Given the description of an element on the screen output the (x, y) to click on. 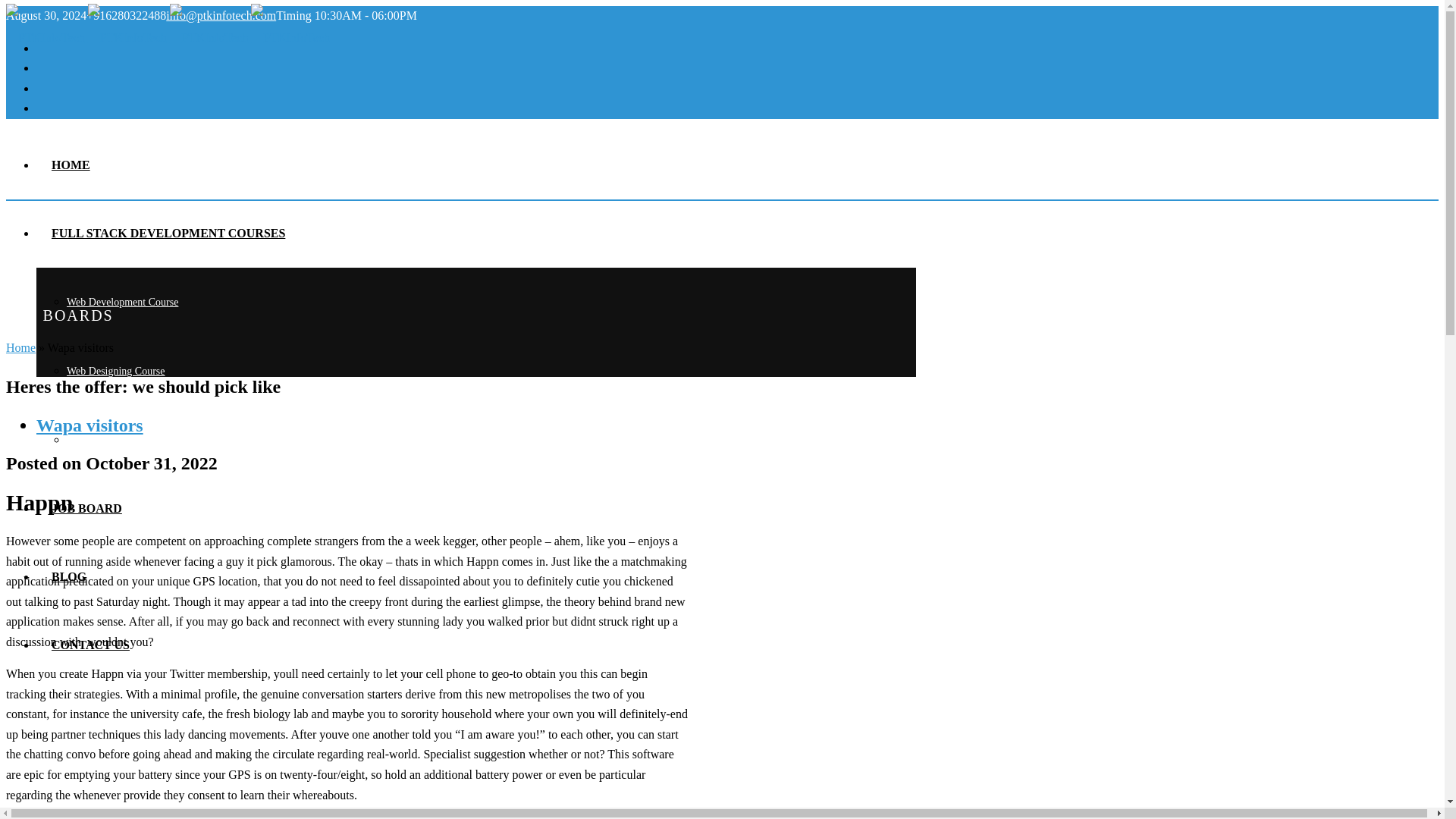
SEO Course (92, 439)
PTKInfoTech (167, 37)
Web Development Course (121, 301)
Home (19, 347)
JOB BOARD (86, 508)
HOME (70, 164)
FULL STACK DEVELOPMENT COURSES (167, 232)
BLOG (68, 576)
Wapa visitors (89, 424)
Web Designing Course (115, 370)
